Given the description of an element on the screen output the (x, y) to click on. 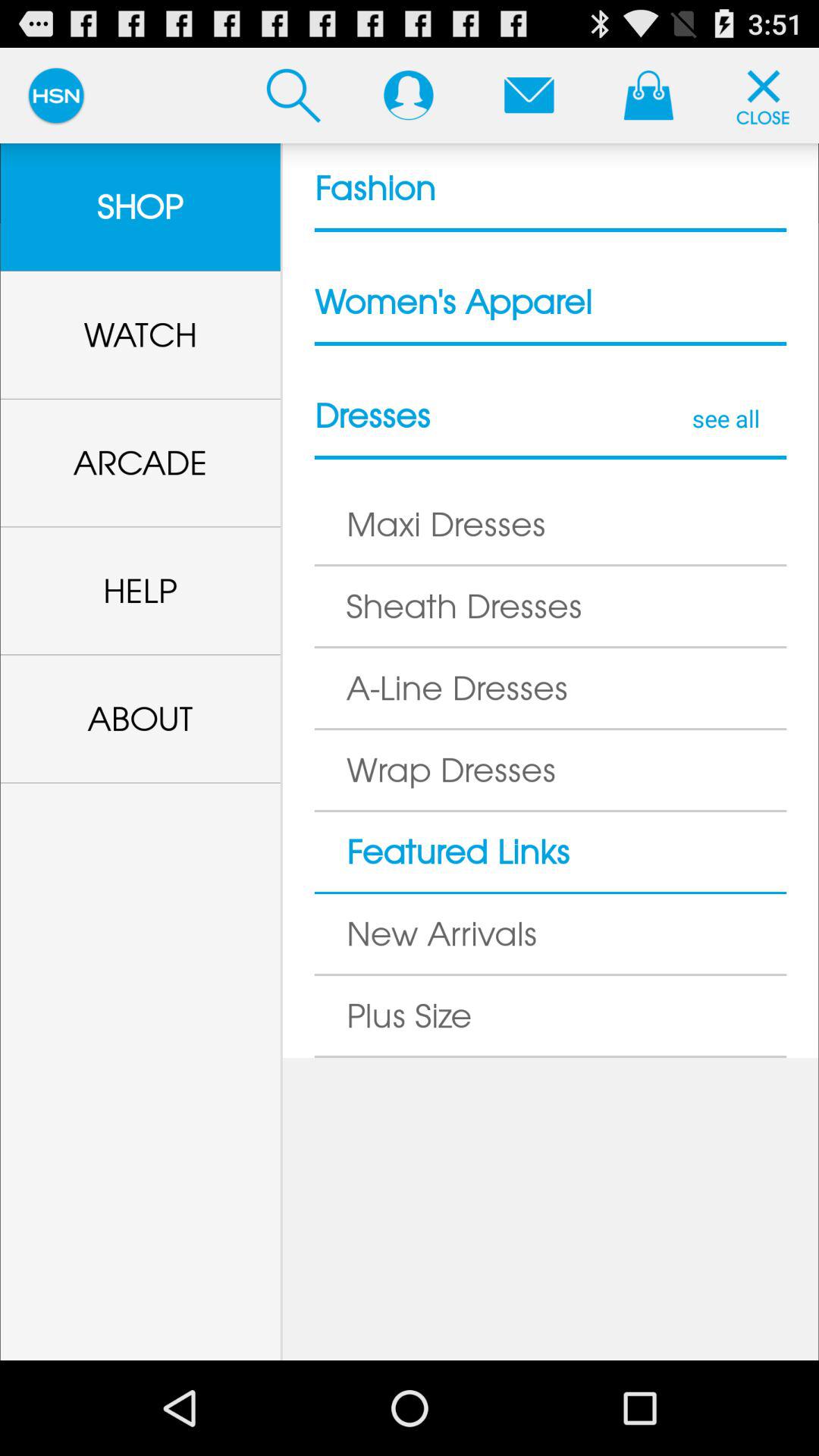
see notifications button (529, 95)
